Given the description of an element on the screen output the (x, y) to click on. 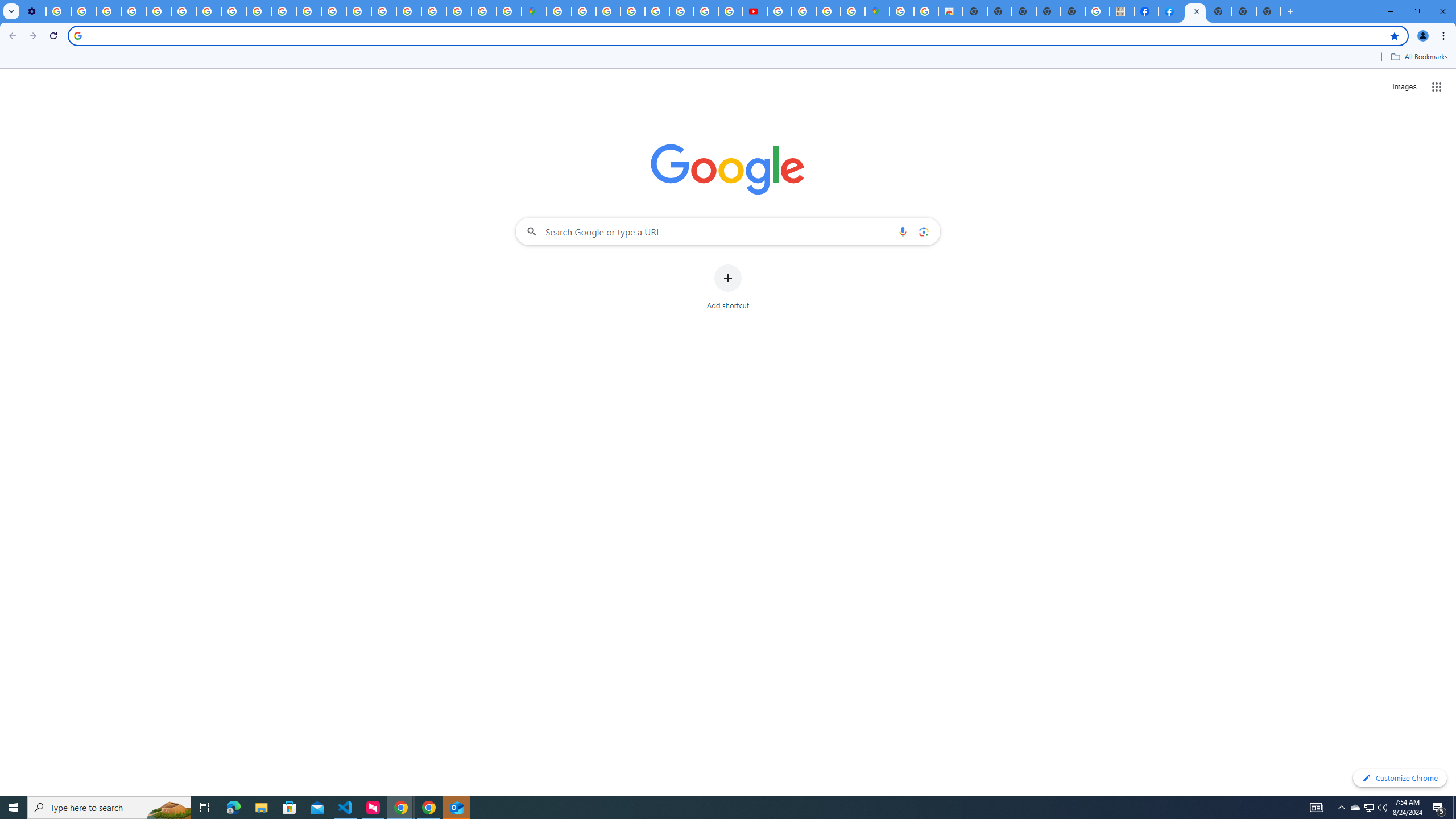
Google Maps (876, 11)
Miley Cyrus | Facebook (1145, 11)
New Tab (1219, 11)
New Tab (1267, 11)
YouTube (182, 11)
Bookmarks (728, 58)
Learn how to find your photos - Google Photos Help (83, 11)
Sign in - Google Accounts (583, 11)
Privacy Help Center - Policies Help (705, 11)
Add shortcut (727, 287)
